Given the description of an element on the screen output the (x, y) to click on. 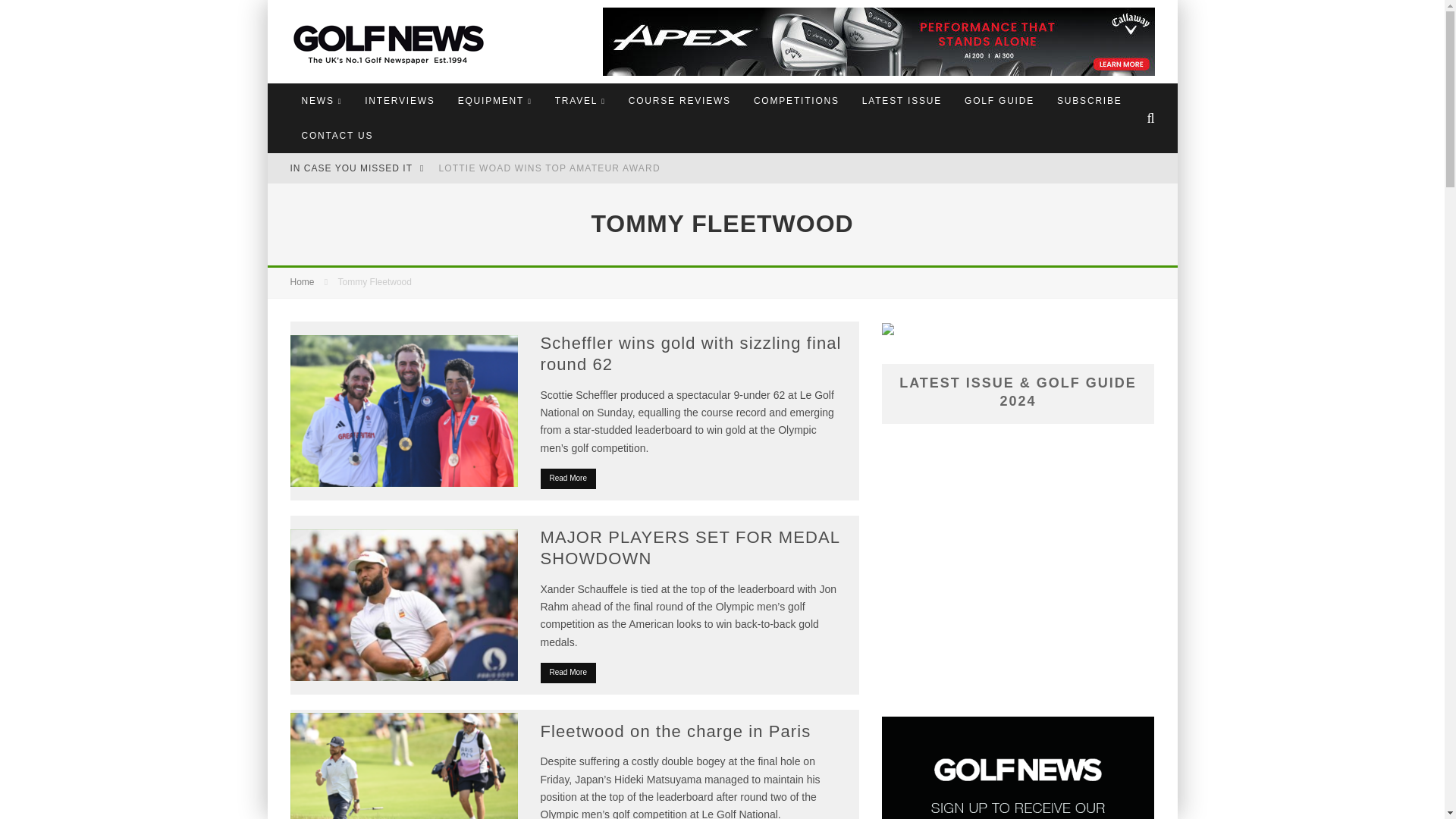
INTERVIEWS (399, 100)
COURSE REVIEWS (679, 100)
LOTTIE WOAD WINS TOP AMATEUR AWARD (548, 167)
EQUIPMENT (494, 100)
TRAVEL (580, 100)
NEWS (321, 100)
